Given the description of an element on the screen output the (x, y) to click on. 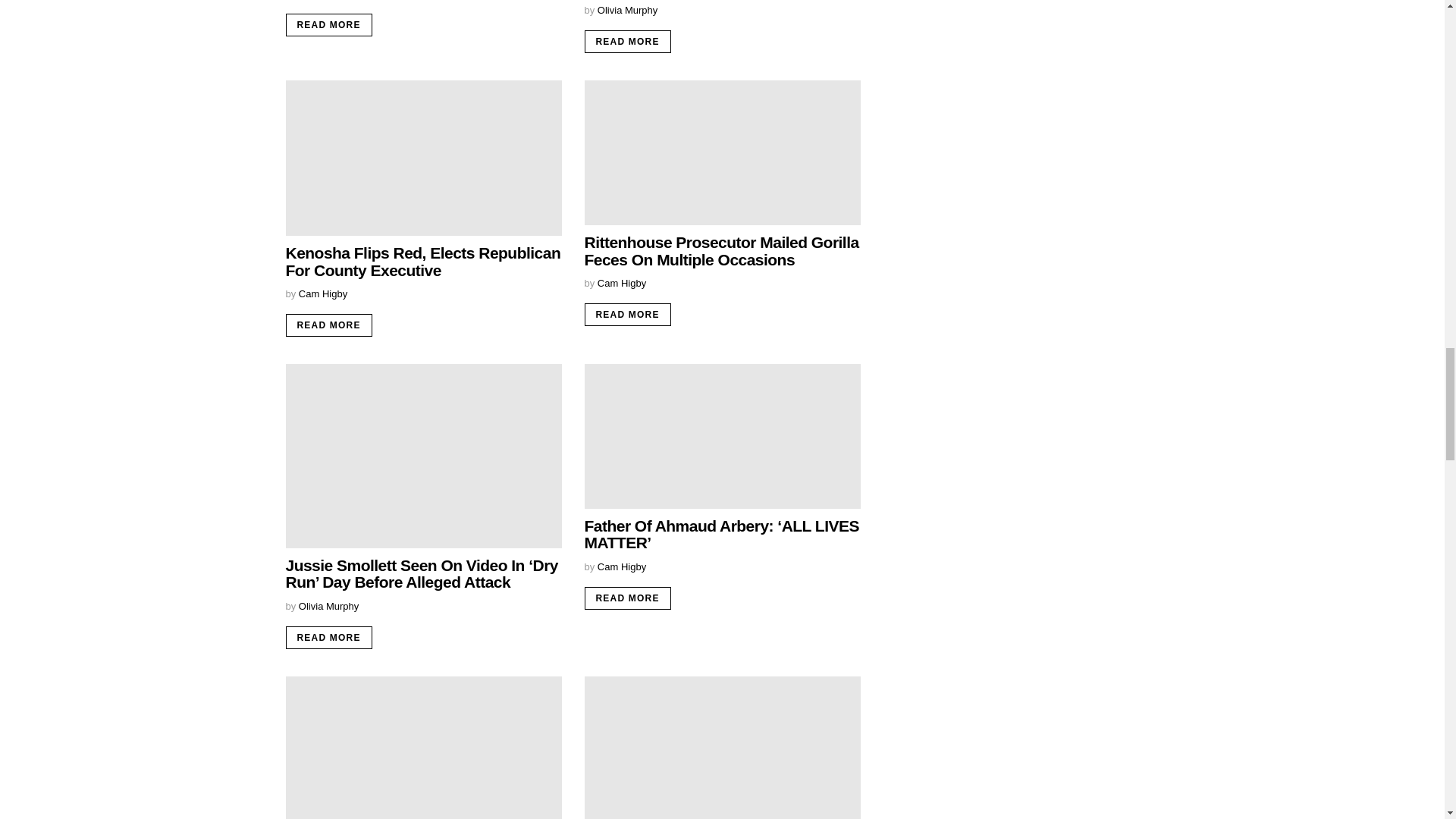
Ahmaud Arbery Murder Trial: Verdict Is In (422, 747)
Posts by Cam Higby (621, 566)
READ MORE (328, 324)
Kenosha Flips Red, Elects Republican For County Executive (422, 157)
Posts by Olivia Murphy (627, 9)
Olivia Murphy (627, 9)
READ MORE (328, 24)
Cam Higby (621, 283)
Kenosha Flips Red, Elects Republican For County Executive (422, 261)
Cam Higby (322, 293)
Posts by Cam Higby (621, 283)
Cam Higby (621, 566)
Olivia Murphy (328, 605)
READ MORE (626, 598)
